Given the description of an element on the screen output the (x, y) to click on. 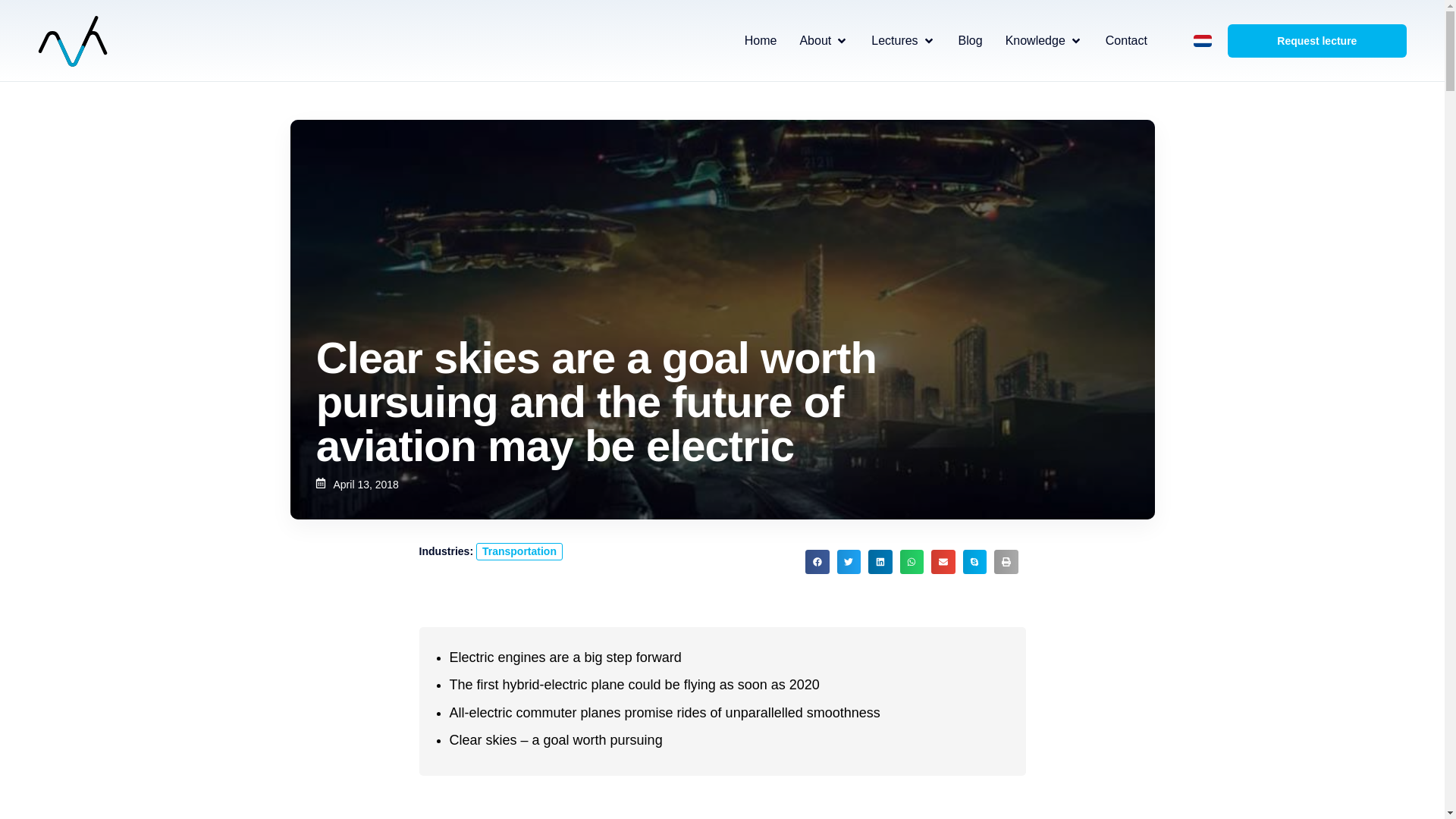
Transportation (519, 551)
Home (760, 40)
Request lecture (1316, 40)
About (815, 40)
Lectures (893, 40)
Blog (970, 40)
Knowledge (1035, 40)
Contact (1126, 40)
